Given the description of an element on the screen output the (x, y) to click on. 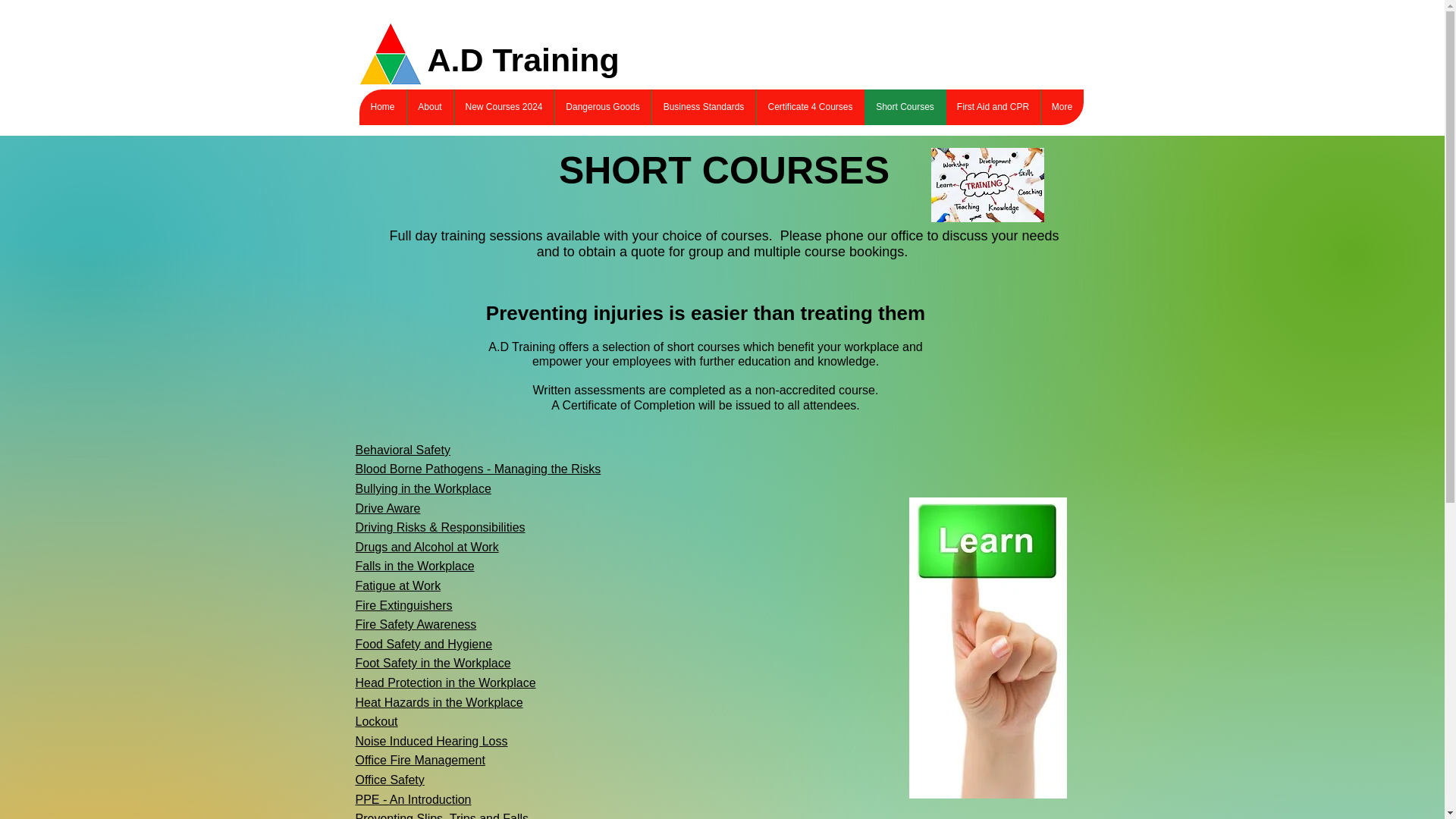
Certificate 4 Courses (809, 107)
First Aid and CPR (991, 107)
Business Standards (702, 107)
Home (382, 107)
Dangerous Goods (601, 107)
Short Courses (904, 107)
About (429, 107)
New Courses 2024 (503, 107)
